Given the description of an element on the screen output the (x, y) to click on. 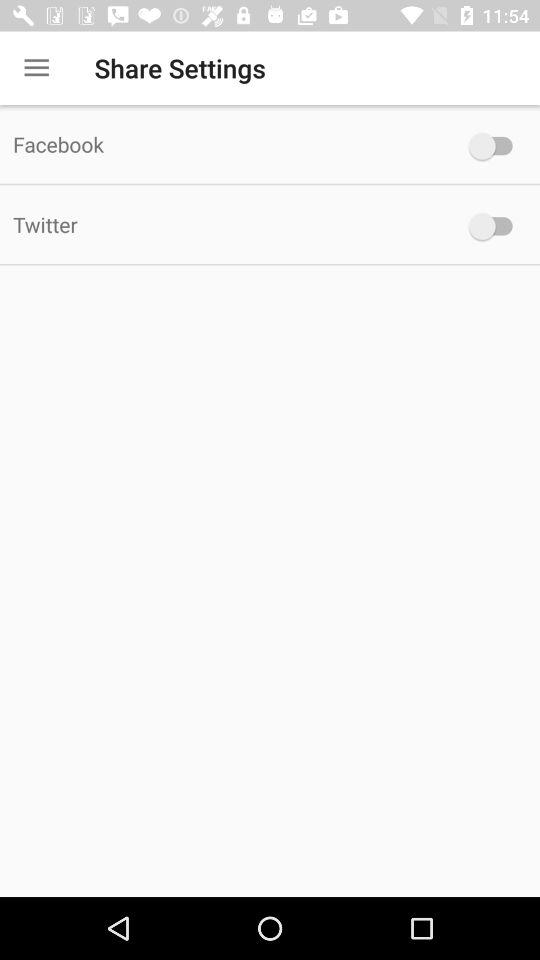
allow facebook to access (495, 146)
